Given the description of an element on the screen output the (x, y) to click on. 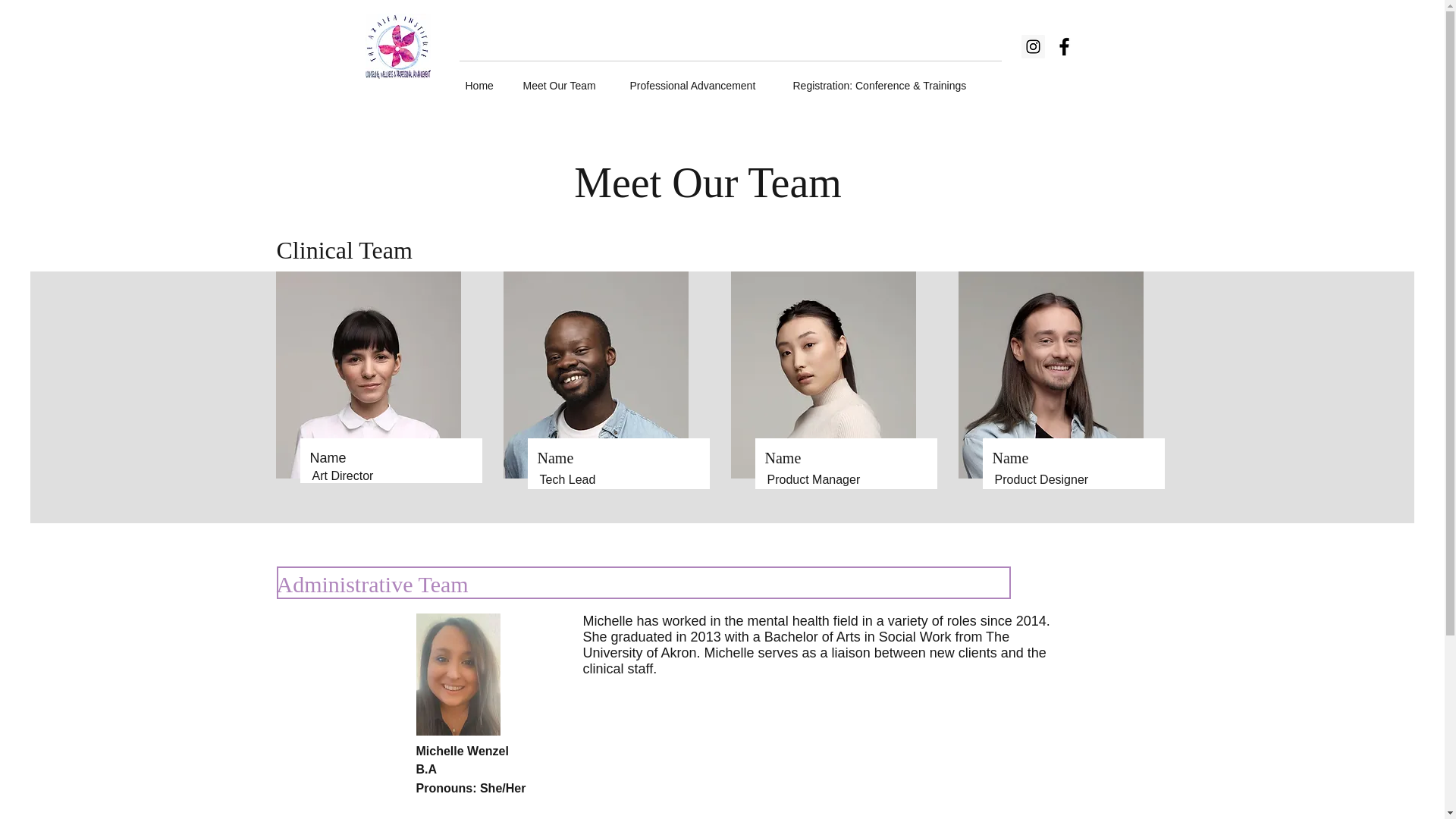
Professional Advancement (704, 78)
Meet Our Team (570, 78)
Home (488, 78)
